Given the description of an element on the screen output the (x, y) to click on. 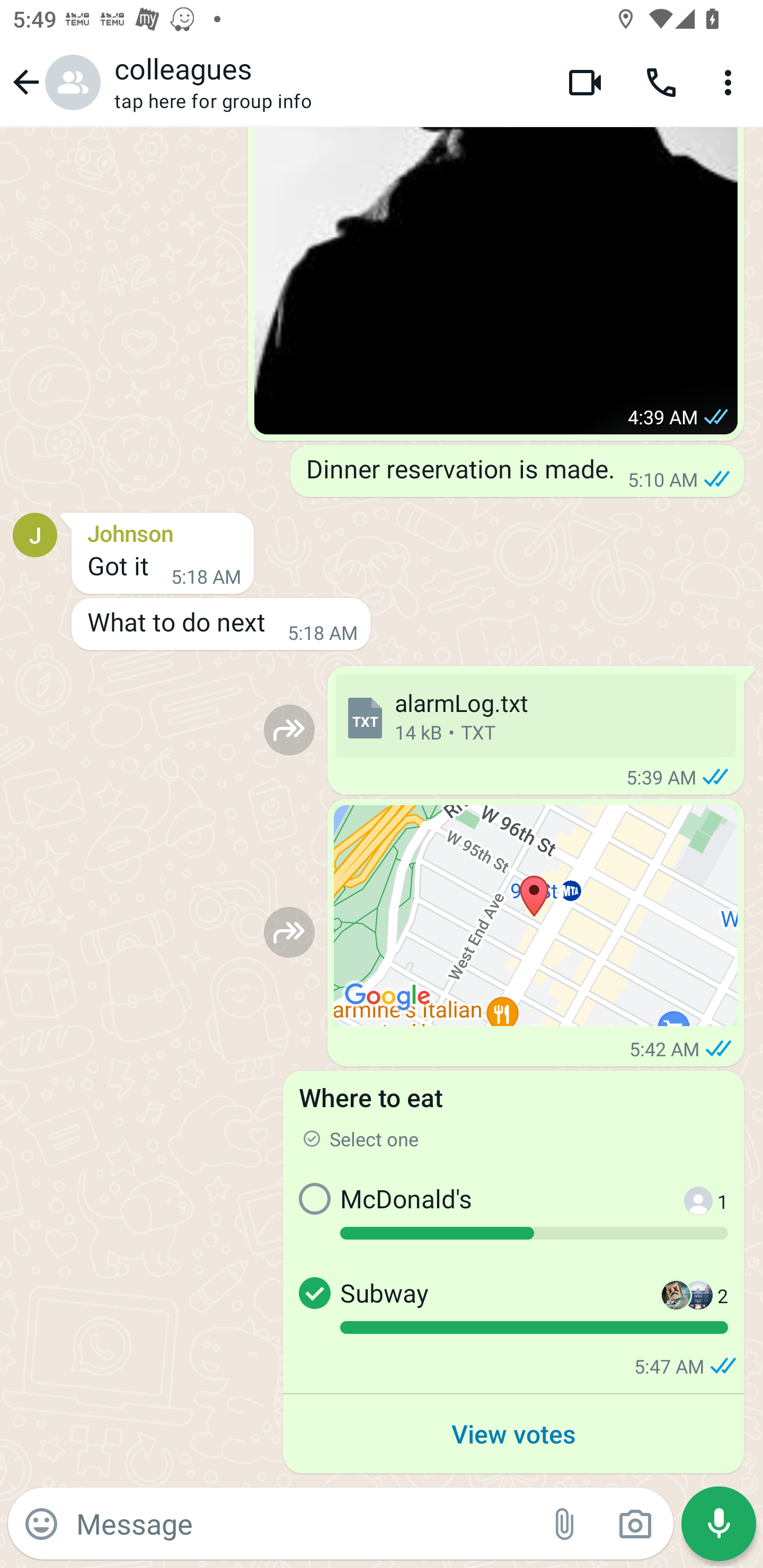
colleagues tap here for group info (327, 82)
Navigate up (54, 82)
Video call (585, 81)
Voice call (661, 81)
More options (731, 81)
View photo (495, 280)
Profile picture for Johnson J (34, 534)
Johnson (162, 530)
alarmLog.txt 14 kB • TXT (535, 715)
Forward to… (288, 729)
Location (535, 915)
Forward to… (288, 932)
Johnson 1 (689, 1213)
You Bob 2 (687, 1308)
View votes (513, 1433)
Emoji (41, 1523)
Attach (565, 1523)
Camera (634, 1523)
Message (303, 1523)
